Given the description of an element on the screen output the (x, y) to click on. 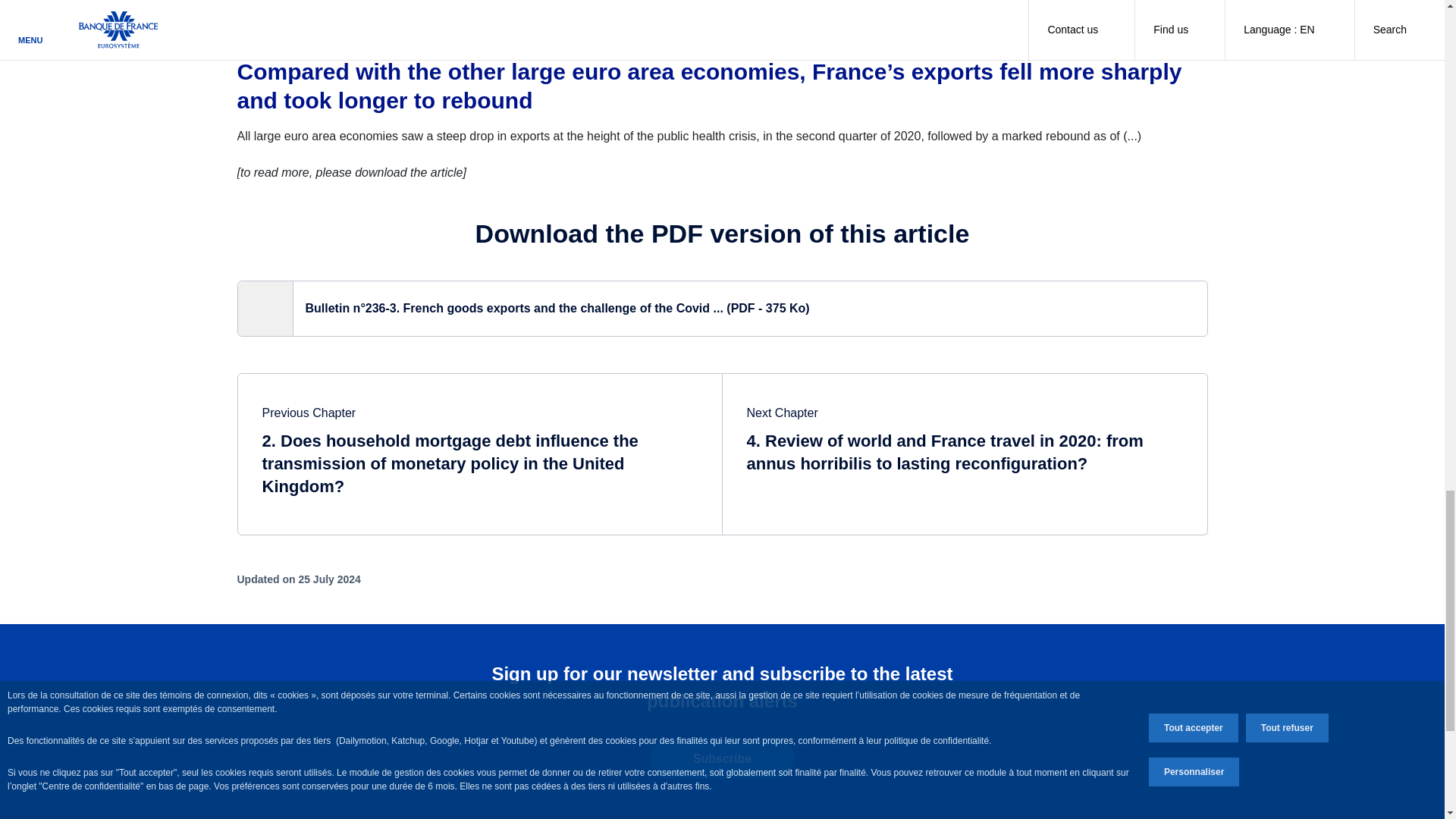
Subscribe (721, 758)
Download (721, 308)
